Given the description of an element on the screen output the (x, y) to click on. 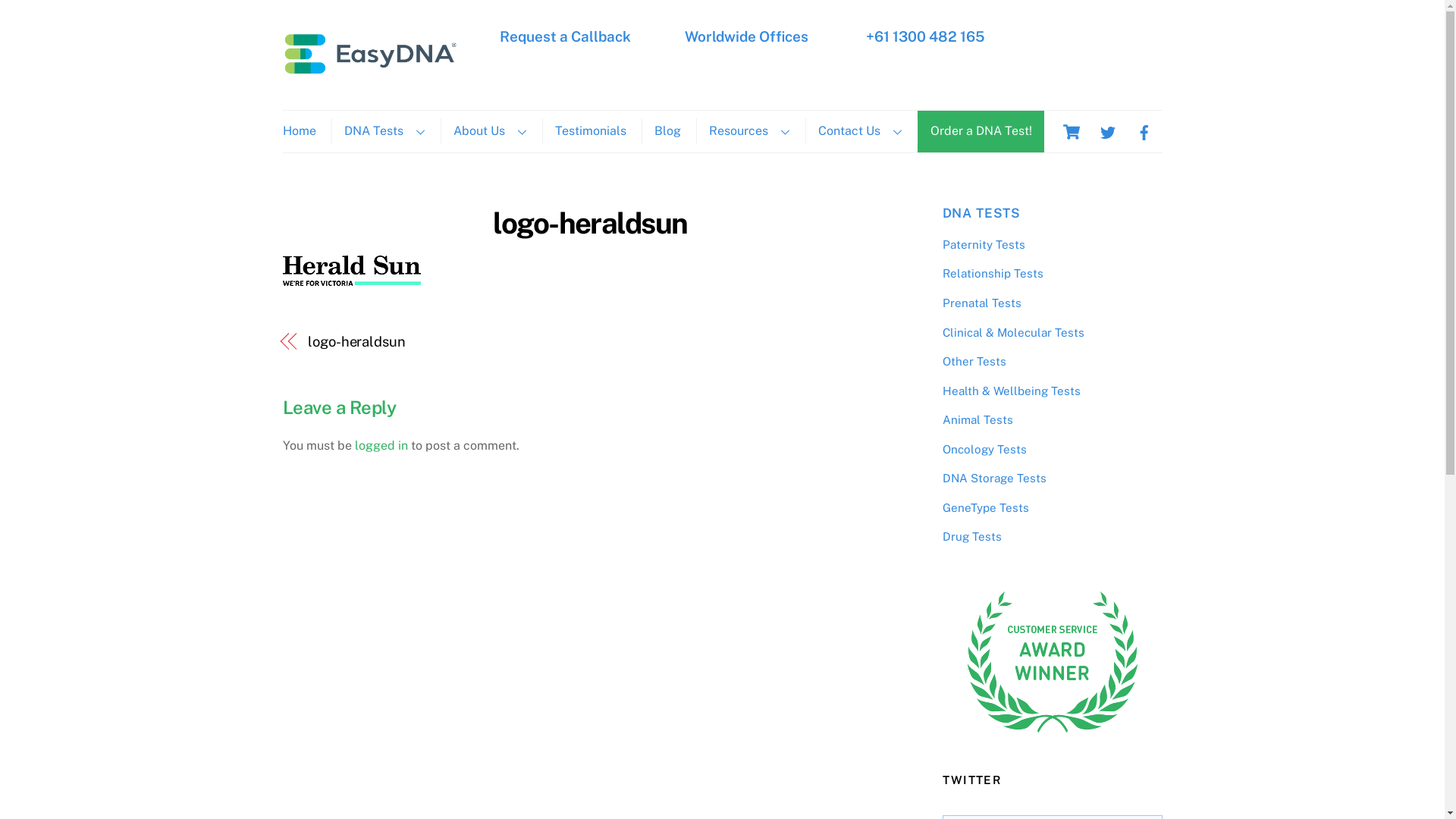
Prenatal Tests Element type: text (980, 302)
Home Element type: text (304, 131)
Blog Element type: text (667, 131)
DNA Tests Element type: text (383, 131)
 +61 1300 482 165 Element type: text (923, 36)
Other Tests Element type: text (973, 360)
Contact Us Element type: text (859, 131)
Health & Wellbeing Tests Element type: text (1010, 390)
Paternity Tests Element type: text (982, 244)
logo-heraldsun Element type: text (589, 223)
Drug Tests Element type: text (971, 536)
EasyDNA_Colour_Horizontal.png (2) Element type: hover (370, 52)
Cart Element type: text (1070, 131)
Request a Callback Element type: text (564, 36)
Clinical & Molecular Tests Element type: text (1012, 332)
Oncology Tests Element type: text (983, 448)
About Us Element type: text (488, 131)
Worldwide Offices Element type: text (746, 36)
logo-heraldsun Element type: text (439, 341)
Order a DNA Test! Element type: text (980, 131)
Resources Element type: text (749, 131)
logged in Element type: text (380, 445)
Animal Tests Element type: text (976, 419)
Relationship Tests Element type: text (991, 272)
Testimonials Element type: text (589, 131)
DNA TESTS Element type: text (980, 212)
DNA Storage Tests Element type: text (993, 477)
GeneType Tests Element type: text (984, 507)
